Given the description of an element on the screen output the (x, y) to click on. 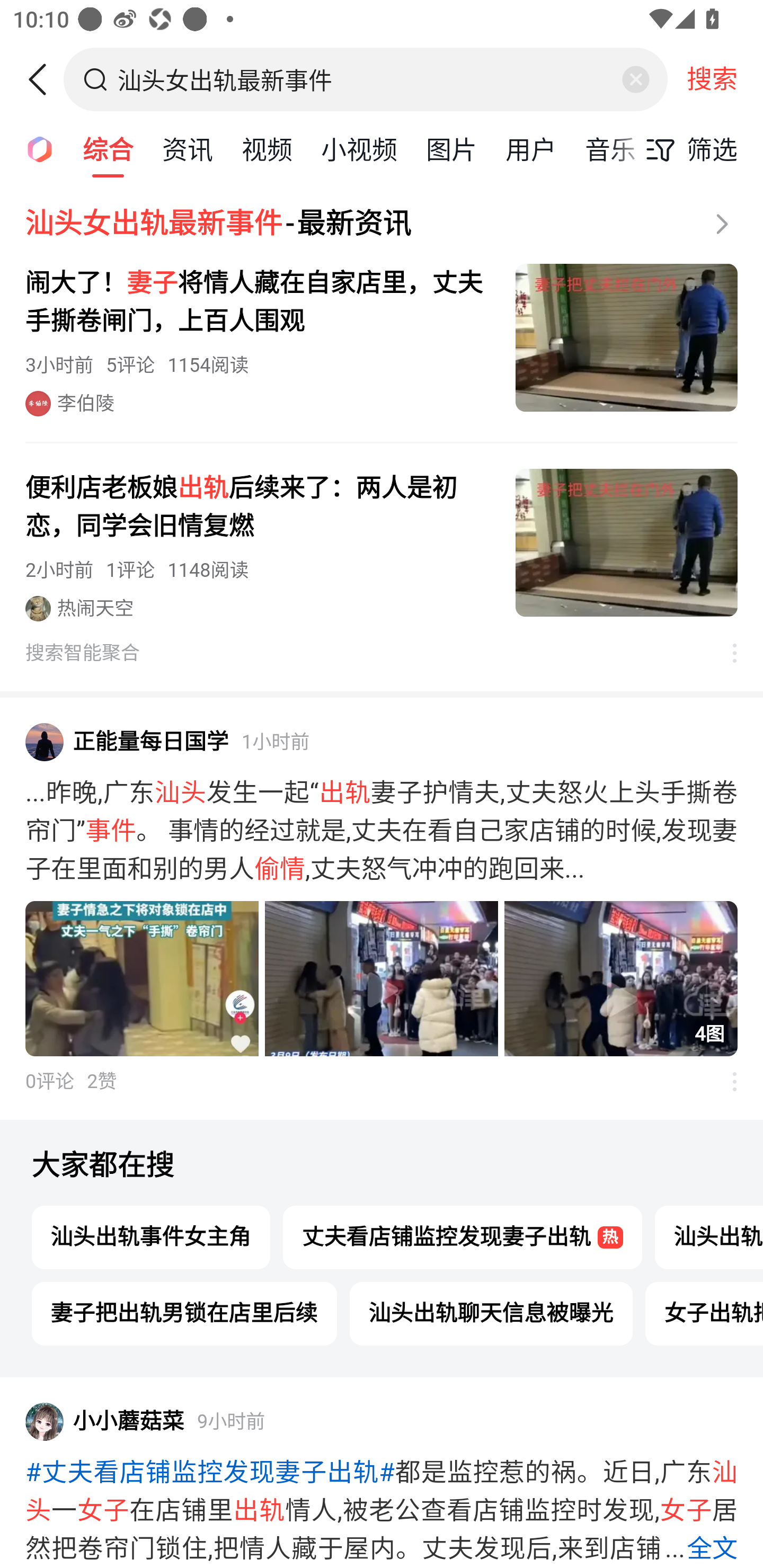
搜索框，汕头女出轨最新事件 (366, 79)
搜索 (711, 79)
返回 (44, 79)
清除 (635, 79)
资讯 (187, 148)
视频 (266, 148)
小视频 (359, 148)
图片 (451, 148)
用户 (530, 148)
音乐 (610, 148)
筛选 (686, 149)
AI问答 (34, 148)
汕头女出轨最新事件 -最新资讯 (381, 223)
闹大了！妻子将情人藏在自家店里，丈夫手撕卷闸门，上百人围观 3小时前5评论1154阅读 李伯陵 (381, 340)
便利店老板娘出轨后续来了：两人是初恋，同学会旧情复燃 2小时前1评论1148阅读 热闹天空 (381, 544)
举报反馈 (724, 652)
正能量每日国学 1小时前 (381, 741)
4图 (381, 978)
举报反馈 (724, 1080)
汕头出轨事件女主角 (151, 1237)
丈夫看店铺监控发现妻子出轨 热 丈夫看店铺监控发现妻子出轨 热 (463, 1237)
妻子把出轨男锁在店里后续 (185, 1313)
汕头出轨聊天信息被曝光 (491, 1313)
小小蘑菇菜 9小时前 (381, 1420)
